Given the description of an element on the screen output the (x, y) to click on. 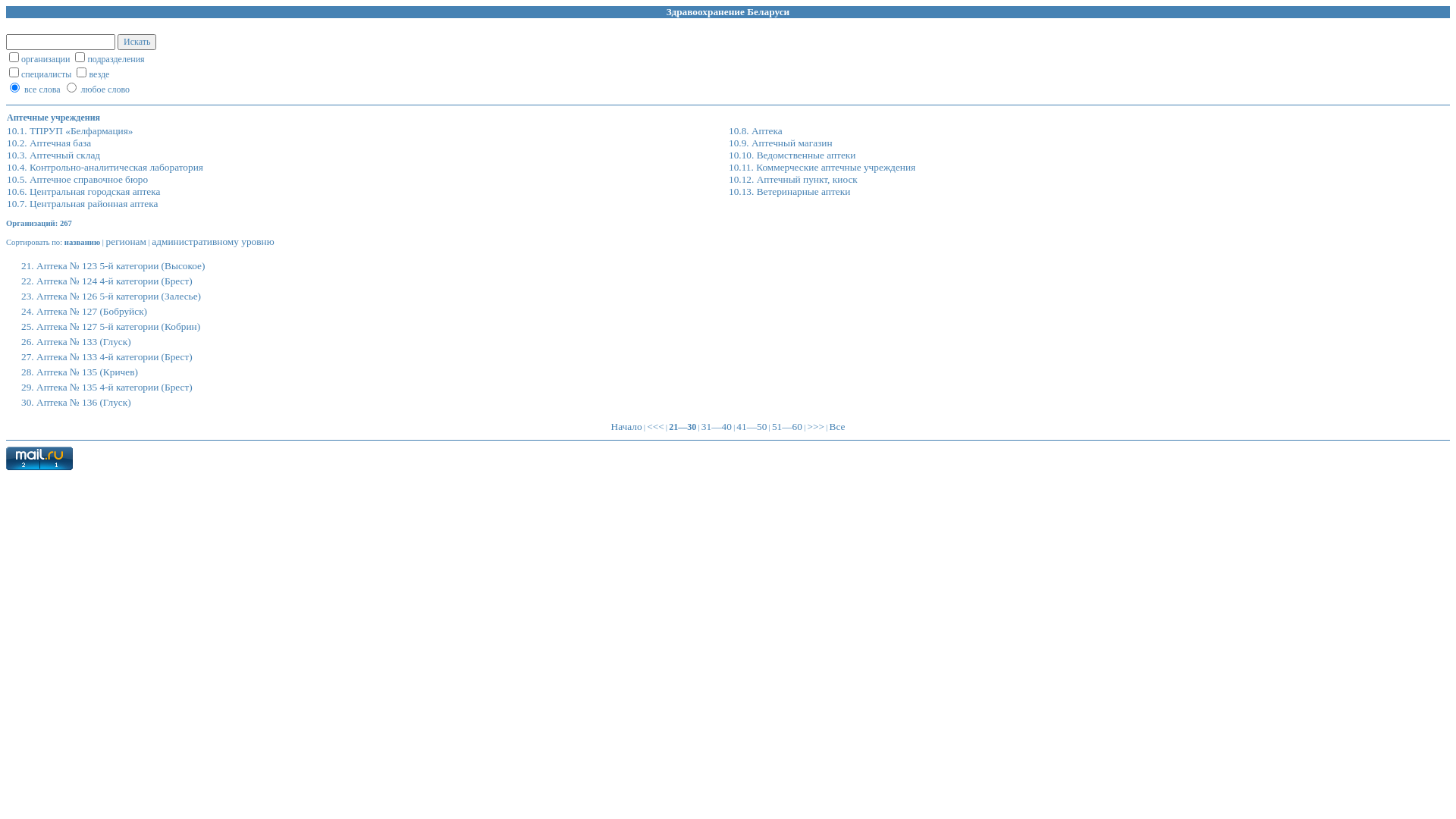
<<< Element type: text (655, 426)
>>> Element type: text (815, 426)
on Element type: text (79, 57)
on Element type: text (81, 72)
on Element type: text (13, 72)
on Element type: text (13, 57)
